Given the description of an element on the screen output the (x, y) to click on. 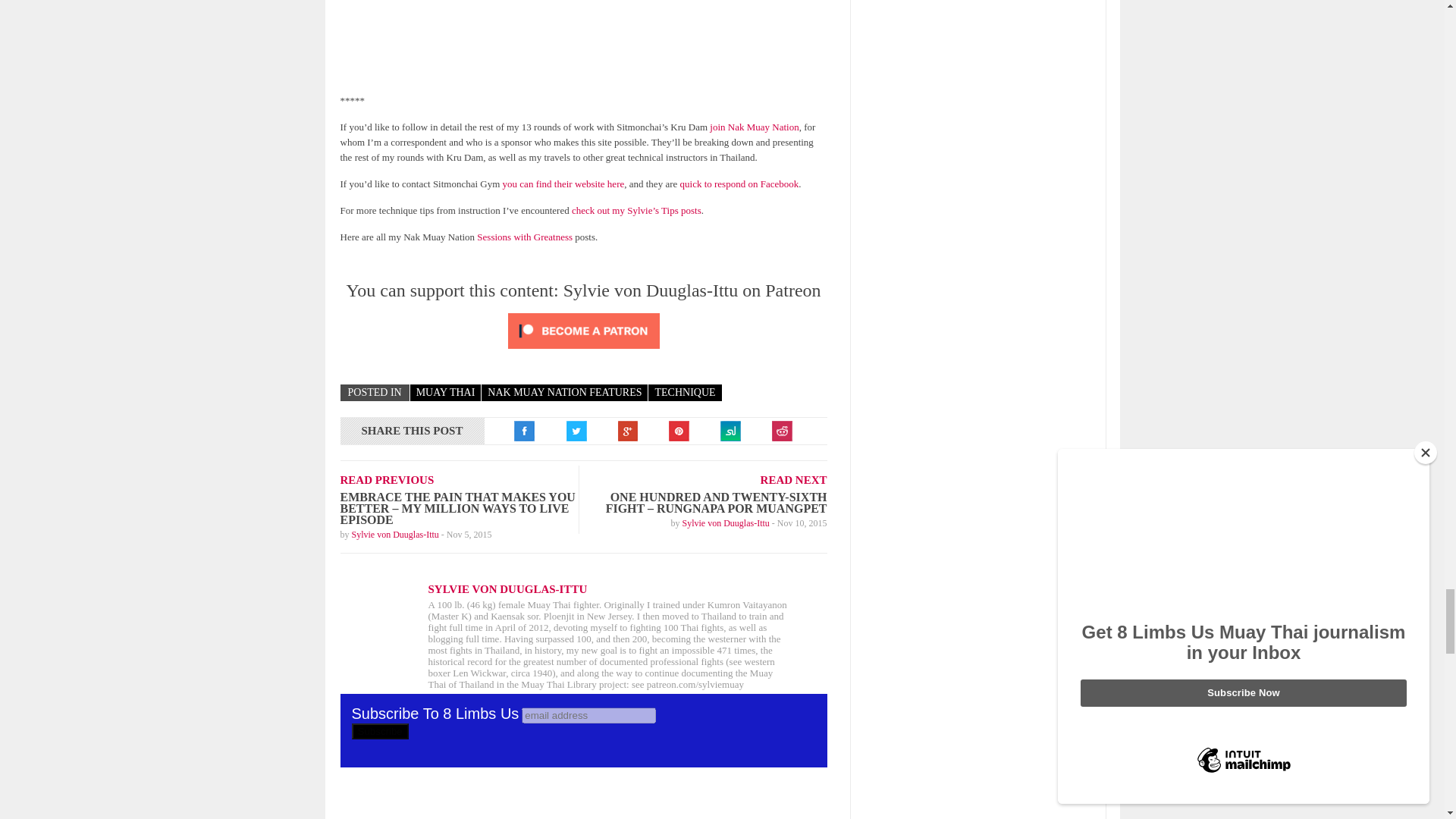
Subscribe (380, 731)
